Given the description of an element on the screen output the (x, y) to click on. 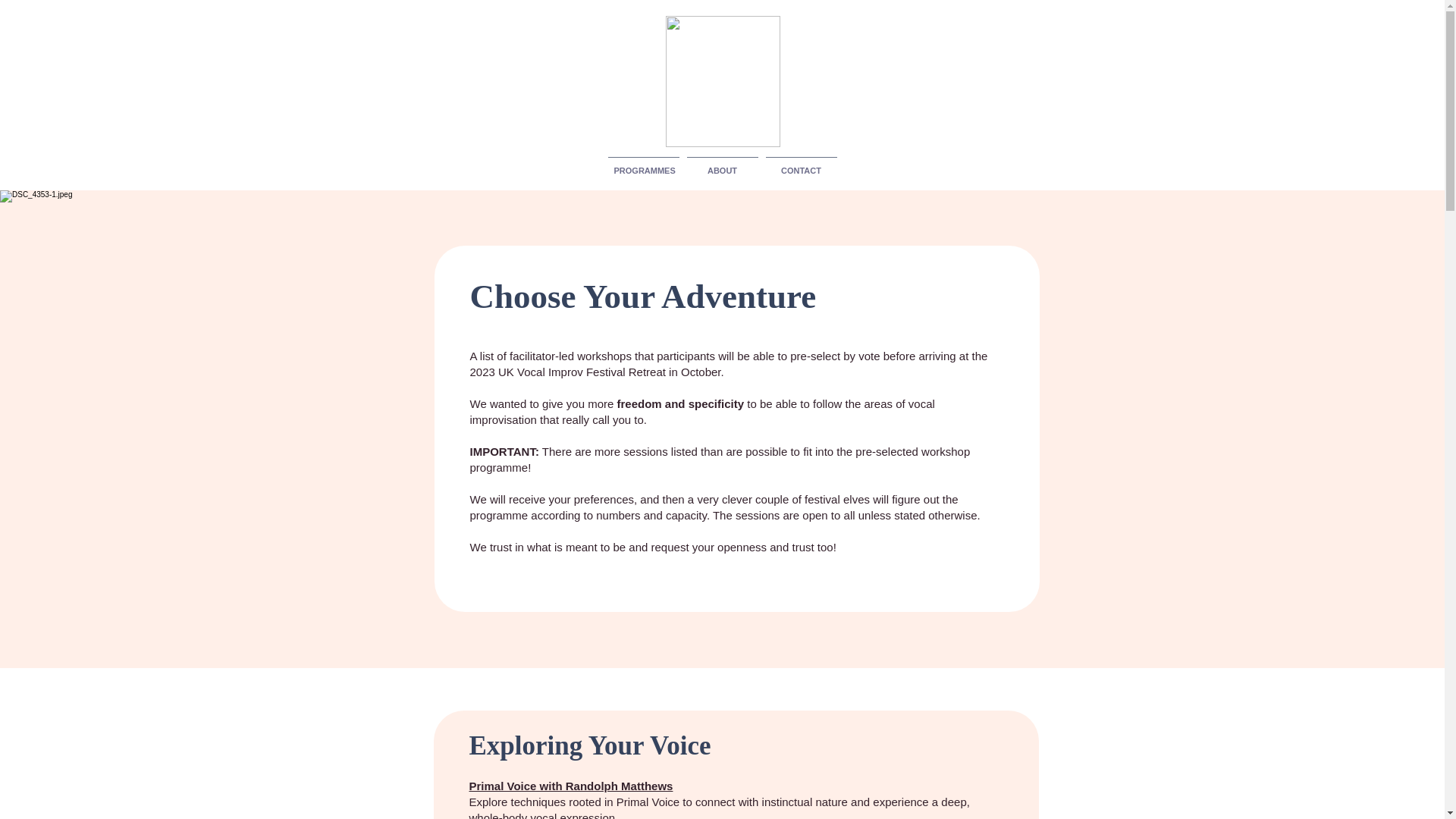
CONTACT (800, 163)
PROGRAMMES (643, 163)
ABOUT (721, 163)
